Given the description of an element on the screen output the (x, y) to click on. 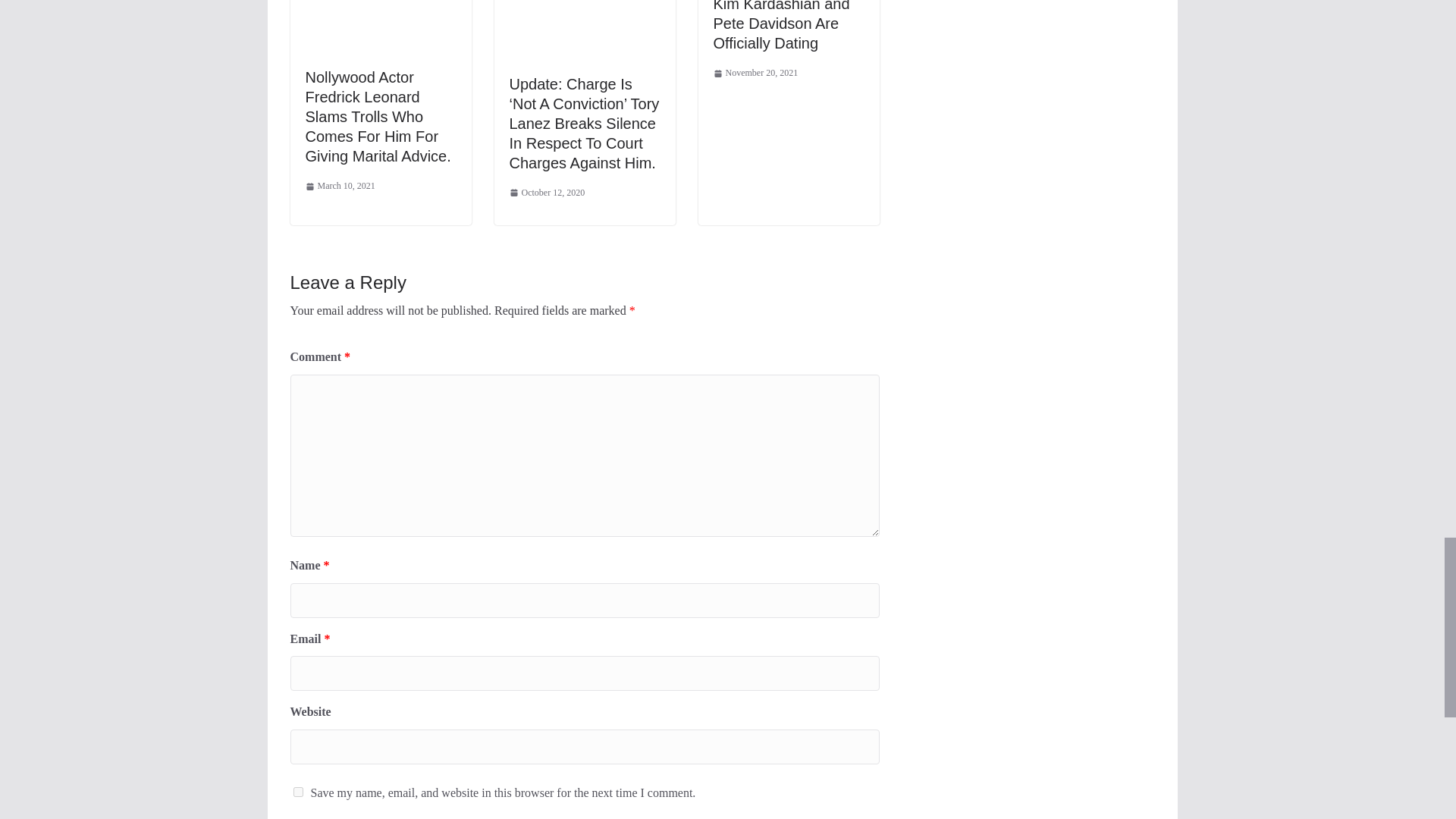
October 12, 2020 (547, 193)
Kim Kardashian and Pete Davidson Are Officially Dating (780, 25)
1:58 pm (547, 193)
yes (297, 791)
11:30 am (339, 186)
Kim Kardashian and Pete Davidson Are Officially Dating (780, 25)
3:20 pm (755, 73)
March 10, 2021 (339, 186)
November 20, 2021 (755, 73)
